Given the description of an element on the screen output the (x, y) to click on. 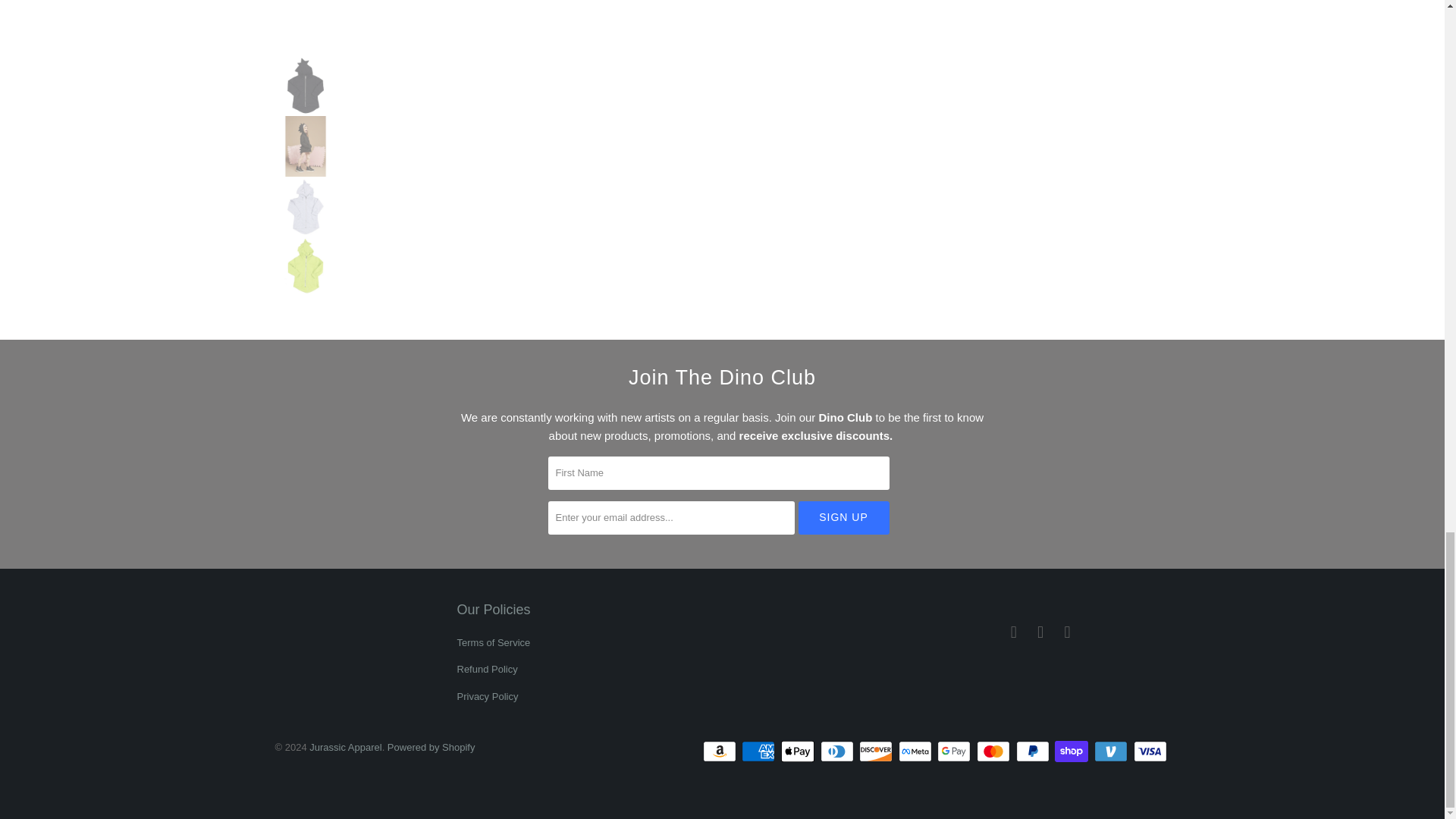
Diners Club (839, 751)
Apple Pay (798, 751)
Mastercard (994, 751)
Venmo (1112, 751)
Meta Pay (916, 751)
American Express (759, 751)
PayPal (1034, 751)
Amazon (721, 751)
Visa (1150, 751)
Sign Up (842, 516)
Email Jurassic Apparel (1067, 632)
Discover (877, 751)
Shop Pay (1072, 751)
Google Pay (955, 751)
Jurassic Apparel on Instagram (1040, 632)
